Given the description of an element on the screen output the (x, y) to click on. 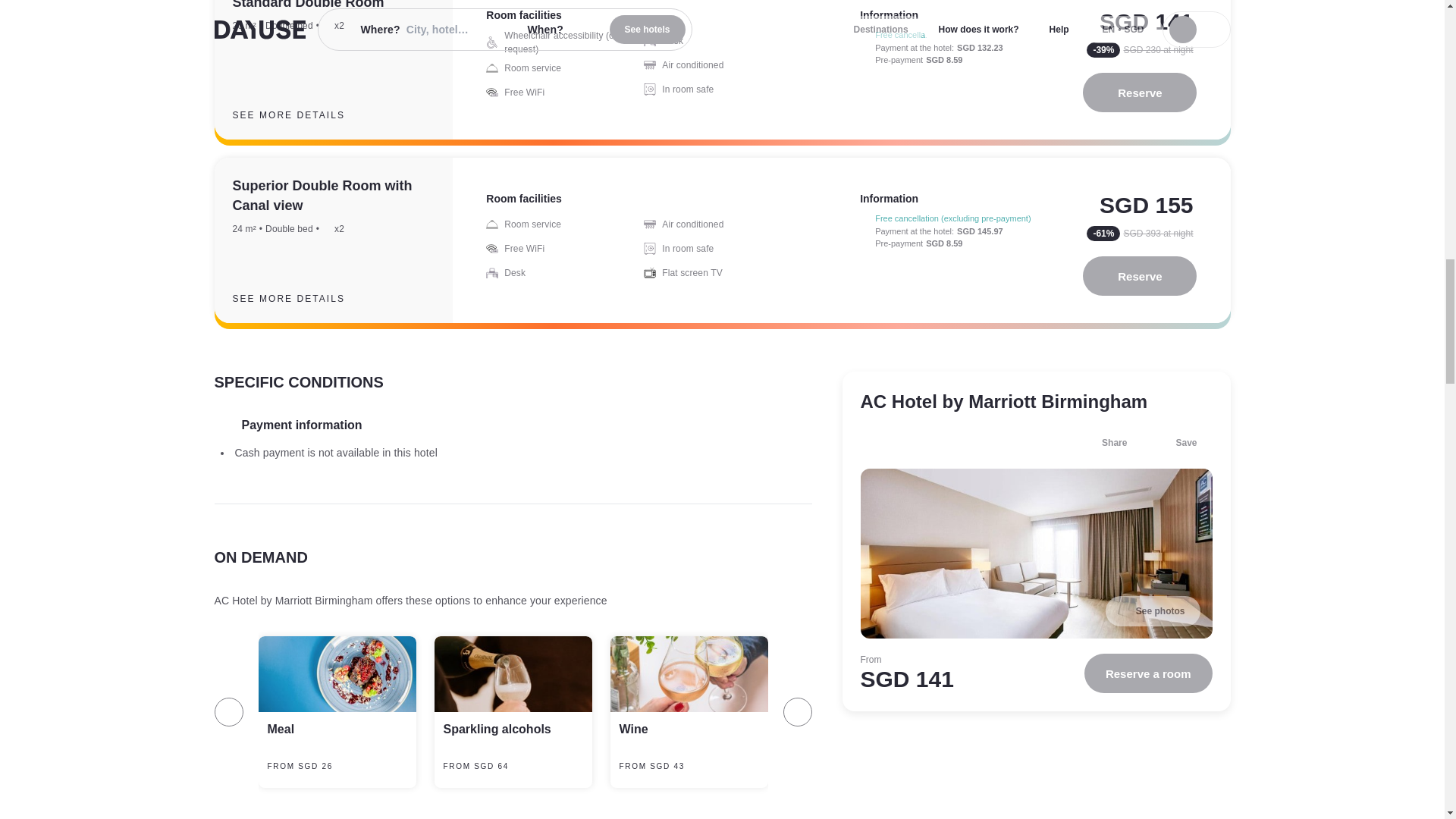
SEE MORE DETAILS (300, 298)
Reserve (1139, 275)
Reserve (1139, 92)
SEE MORE DETAILS (300, 115)
